Given the description of an element on the screen output the (x, y) to click on. 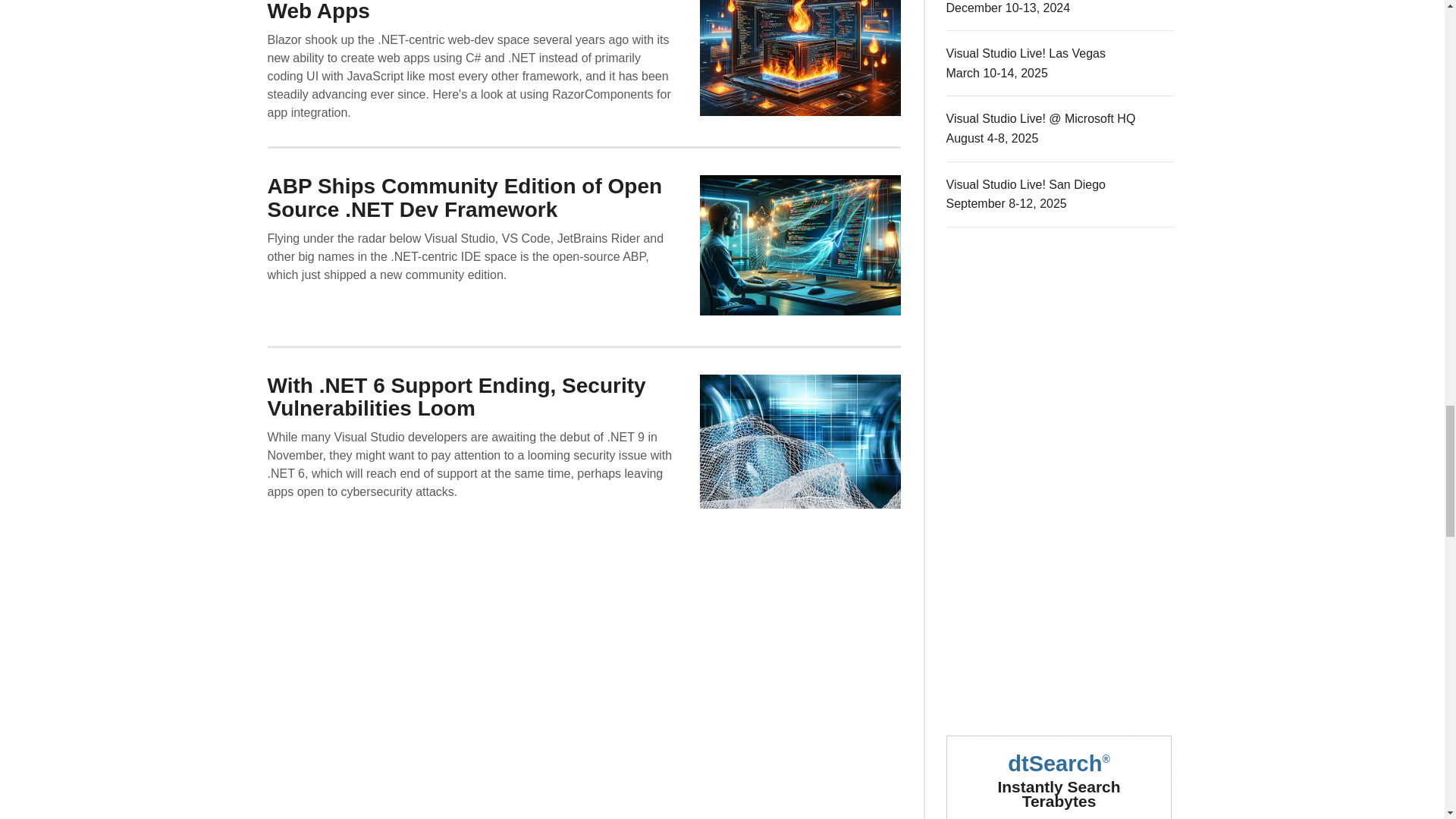
3rd party ad content (1059, 769)
3rd party ad content (1059, 360)
3rd party ad content (1059, 587)
